Given the description of an element on the screen output the (x, y) to click on. 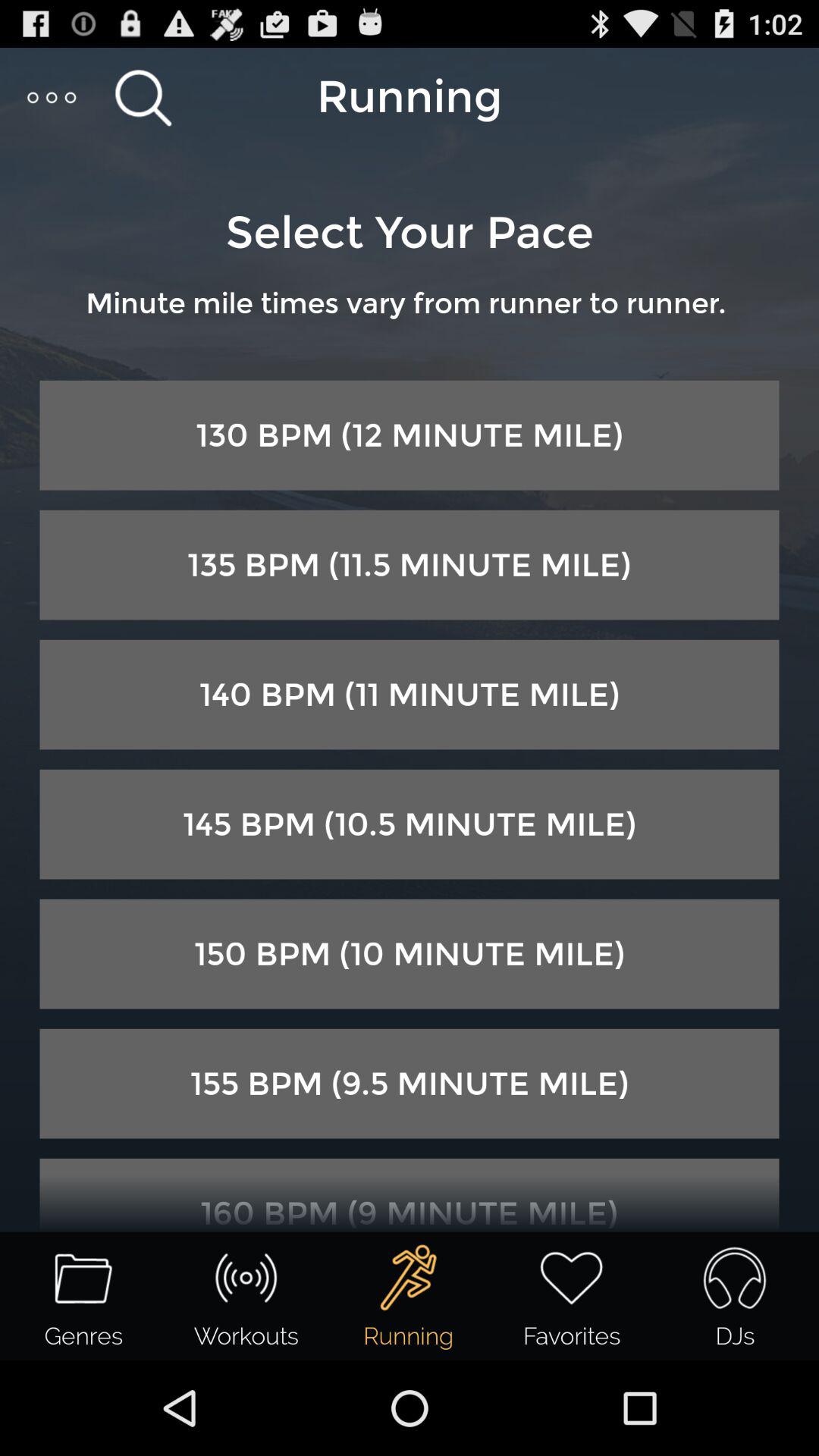
turn off the 130 bpm 12 (409, 435)
